Given the description of an element on the screen output the (x, y) to click on. 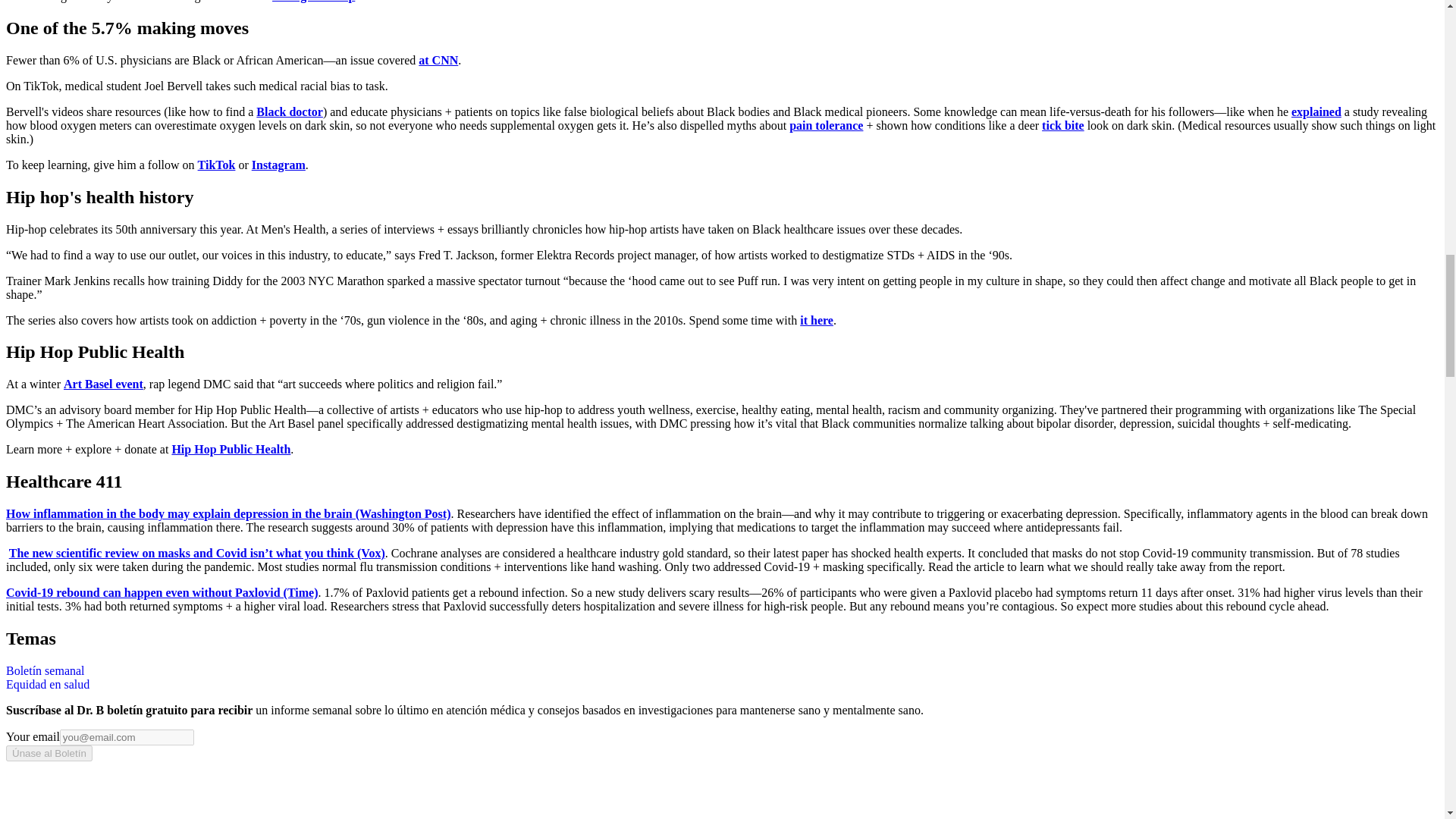
Instagram (278, 164)
pain tolerance (826, 124)
Art Basel event (103, 383)
it here (815, 319)
TikTok (216, 164)
at CNN (438, 60)
Black doctor (289, 111)
explained (1315, 111)
tick bite (1063, 124)
Hip Hop Public Health (230, 449)
feeling like crap (313, 1)
